Given the description of an element on the screen output the (x, y) to click on. 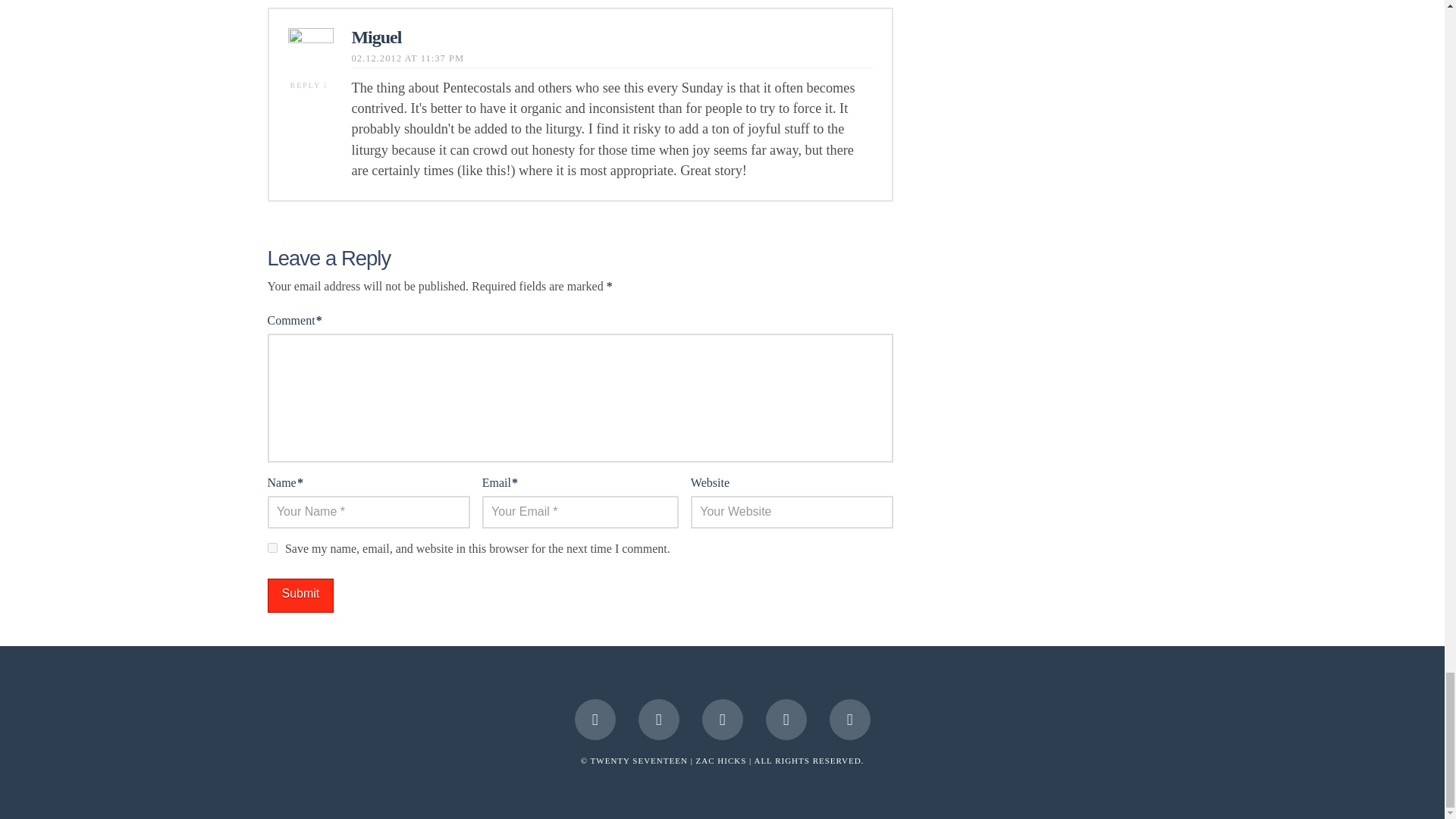
YouTube (785, 719)
Facebook (595, 719)
yes (271, 547)
Instagram (849, 719)
LinkedIn (721, 719)
Twitter (659, 719)
Submit (299, 595)
